Given the description of an element on the screen output the (x, y) to click on. 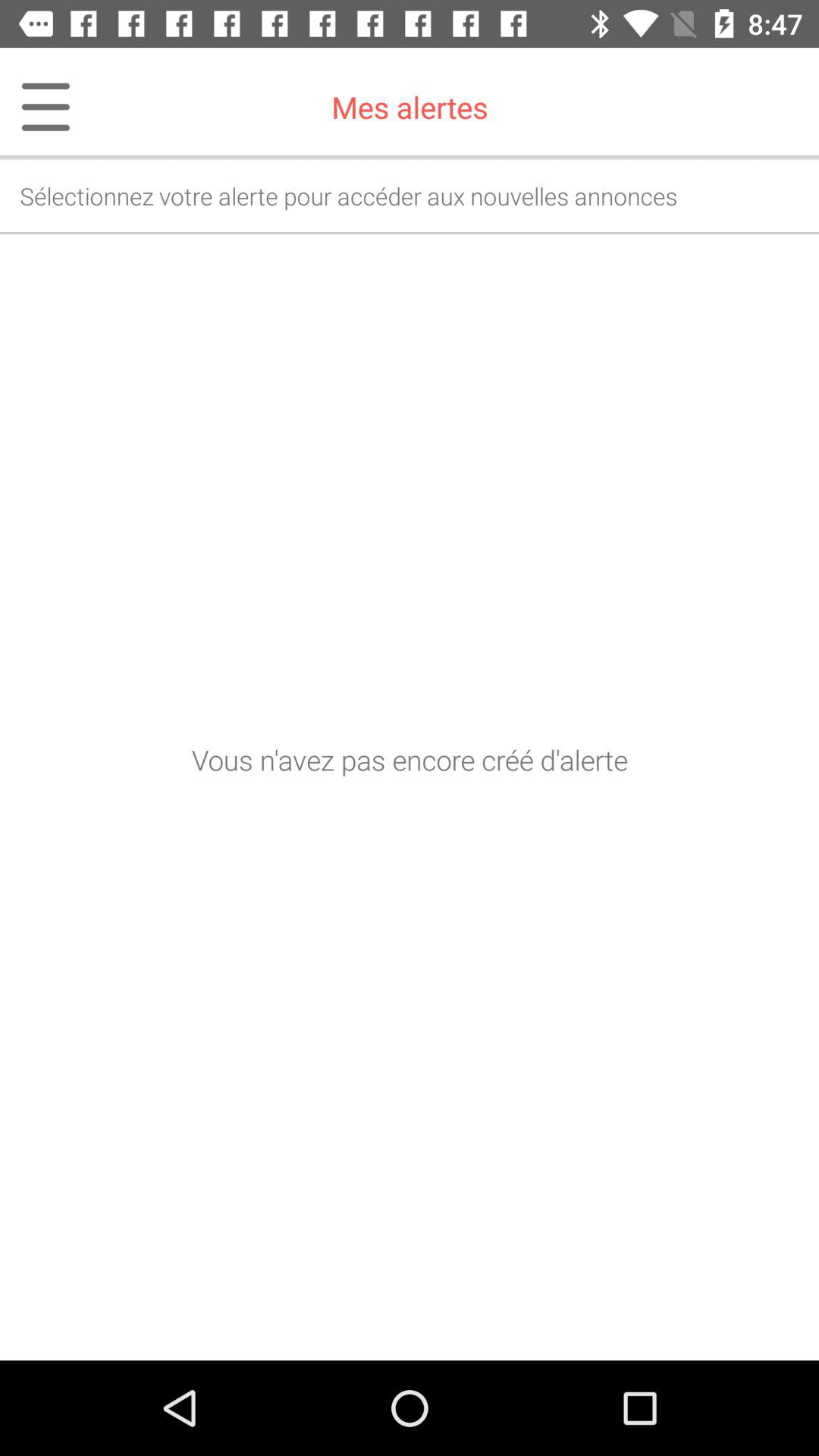
tap icon next to mes alertes item (35, 106)
